Given the description of an element on the screen output the (x, y) to click on. 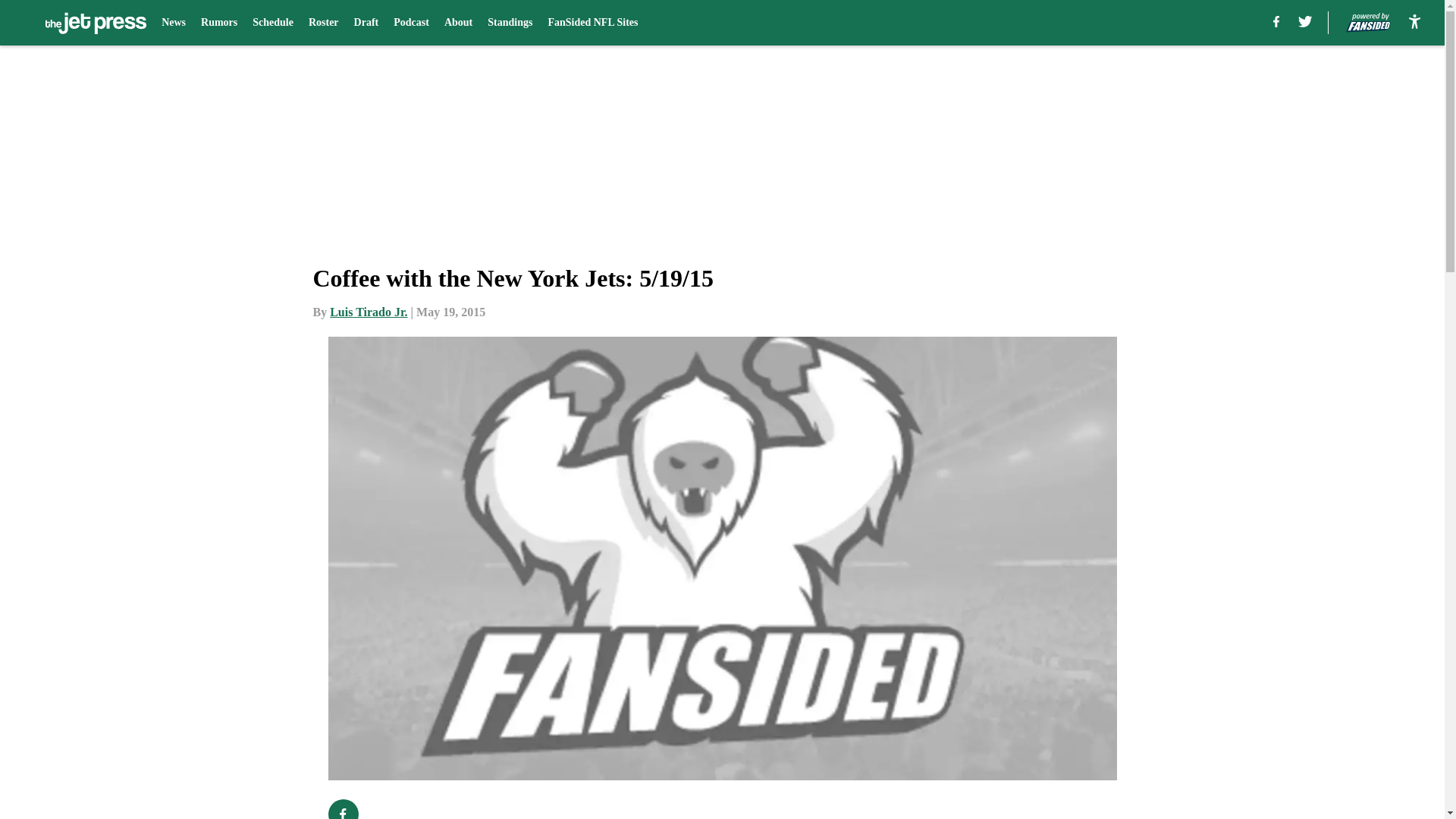
About (457, 22)
Roster (323, 22)
Luis Tirado Jr. (368, 311)
FanSided NFL Sites (592, 22)
Standings (509, 22)
News (173, 22)
Draft (365, 22)
Podcast (411, 22)
Rumors (218, 22)
Schedule (272, 22)
